Given the description of an element on the screen output the (x, y) to click on. 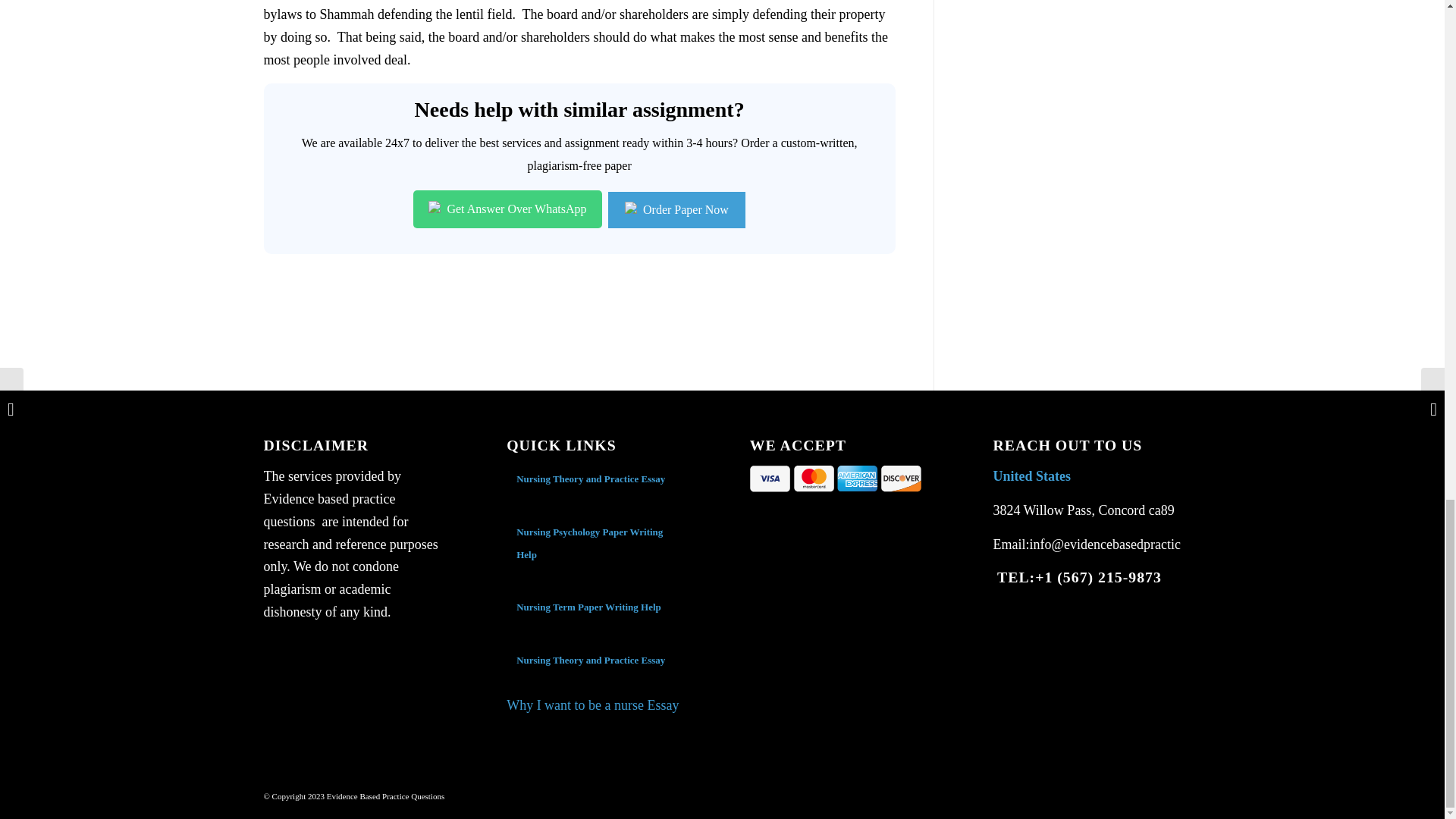
Nursing Theory and Practice Essay  (591, 478)
Get Answer Over WhatsApp (507, 209)
Why I want to be a nurse Essay (592, 704)
Order Paper Now (676, 209)
Nursing Term Paper Writing Help (588, 606)
Nursing Psychology Paper Writing Help (589, 543)
Nursing Theory and Practice Essay (590, 659)
